Given the description of an element on the screen output the (x, y) to click on. 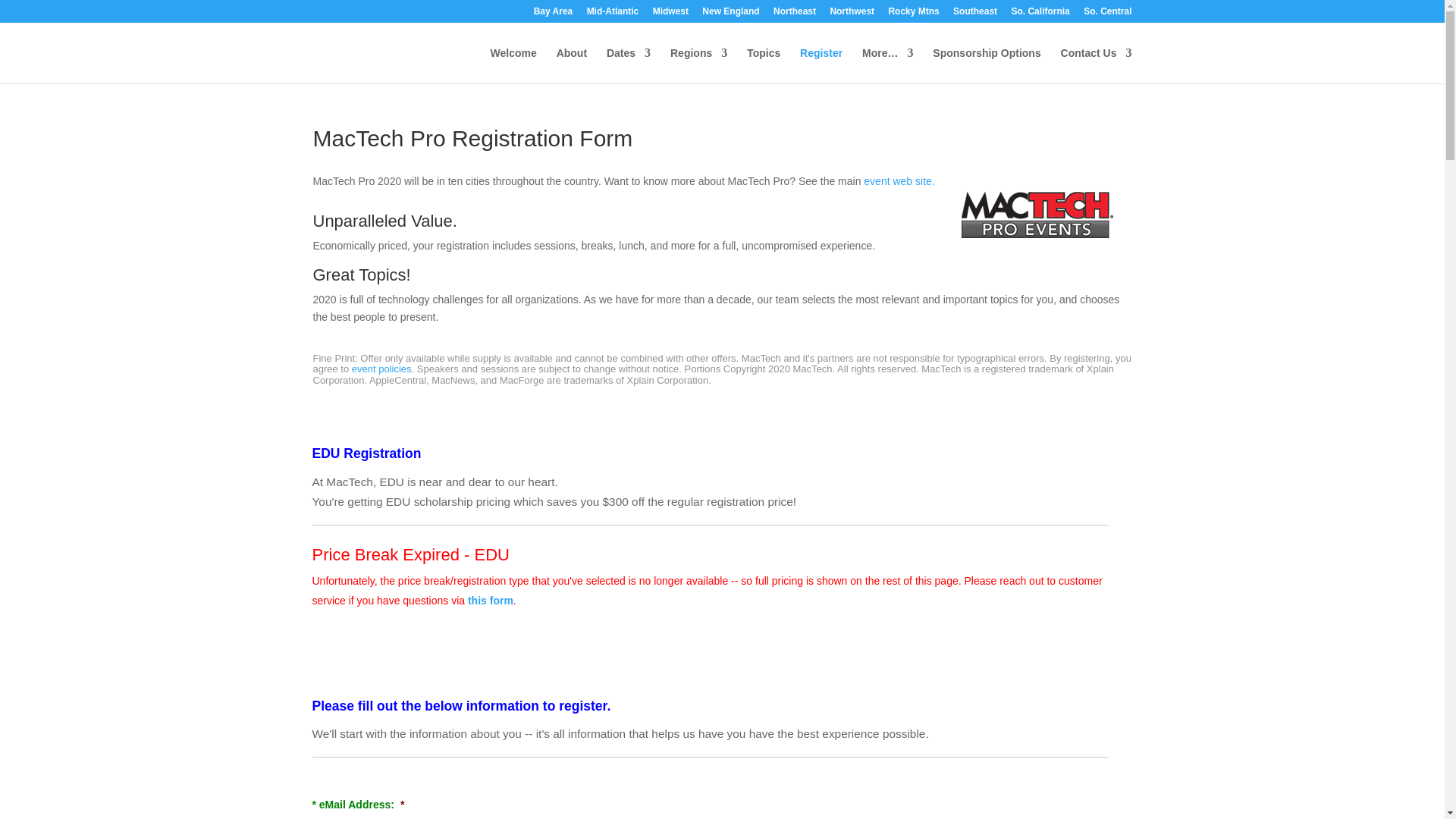
Bay Area (553, 14)
Dates (628, 65)
Regions (697, 65)
Welcome (513, 65)
About (571, 65)
Topics (763, 65)
Rocky Mtns (913, 14)
Northwest (852, 14)
Register (821, 65)
Northeast (794, 14)
Mid-Atlantic (612, 14)
So. Central (1107, 14)
So. California (1039, 14)
Southeast (975, 14)
Midwest (670, 14)
